Given the description of an element on the screen output the (x, y) to click on. 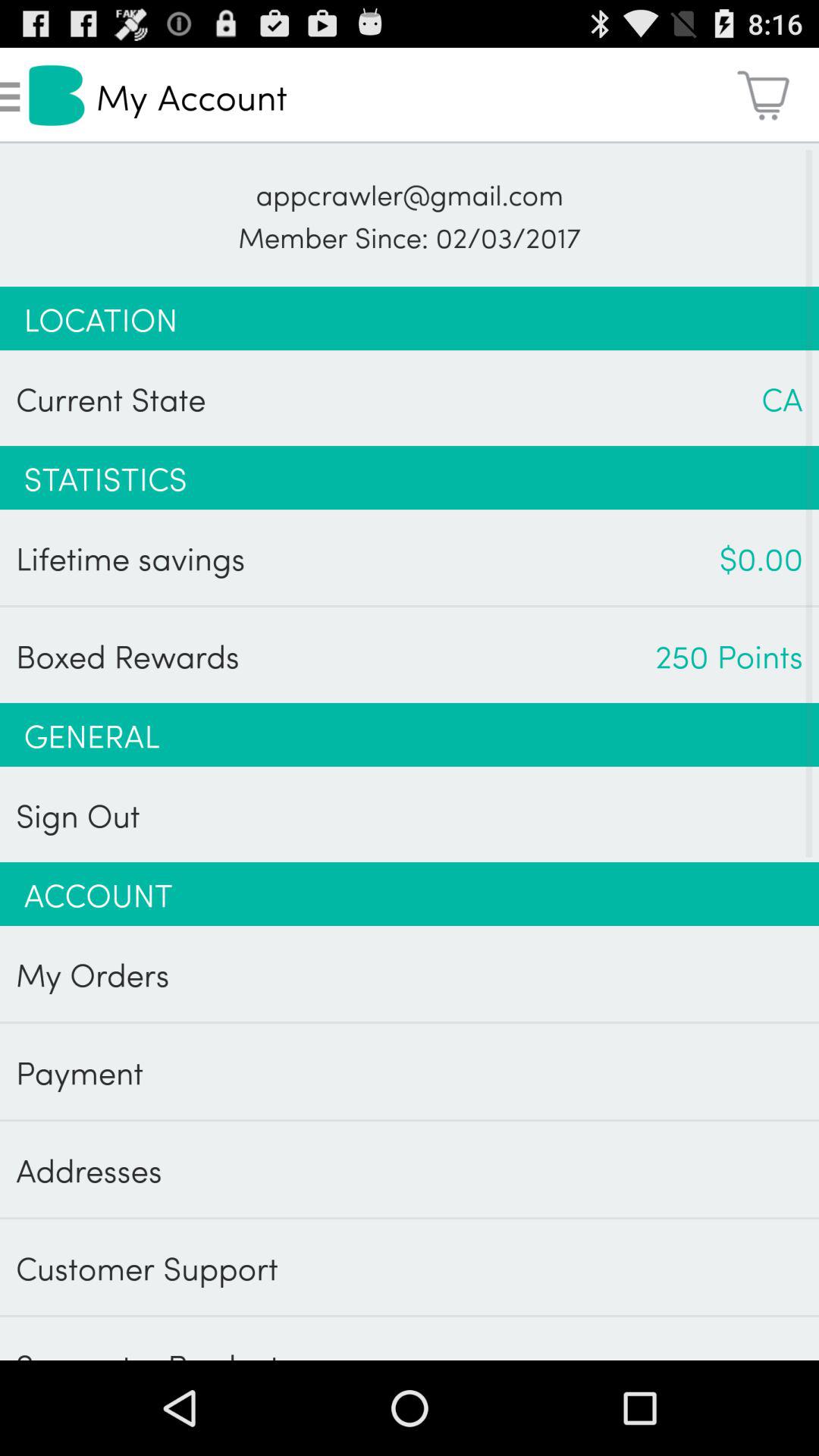
launch the app above lifetime savings (409, 477)
